Given the description of an element on the screen output the (x, y) to click on. 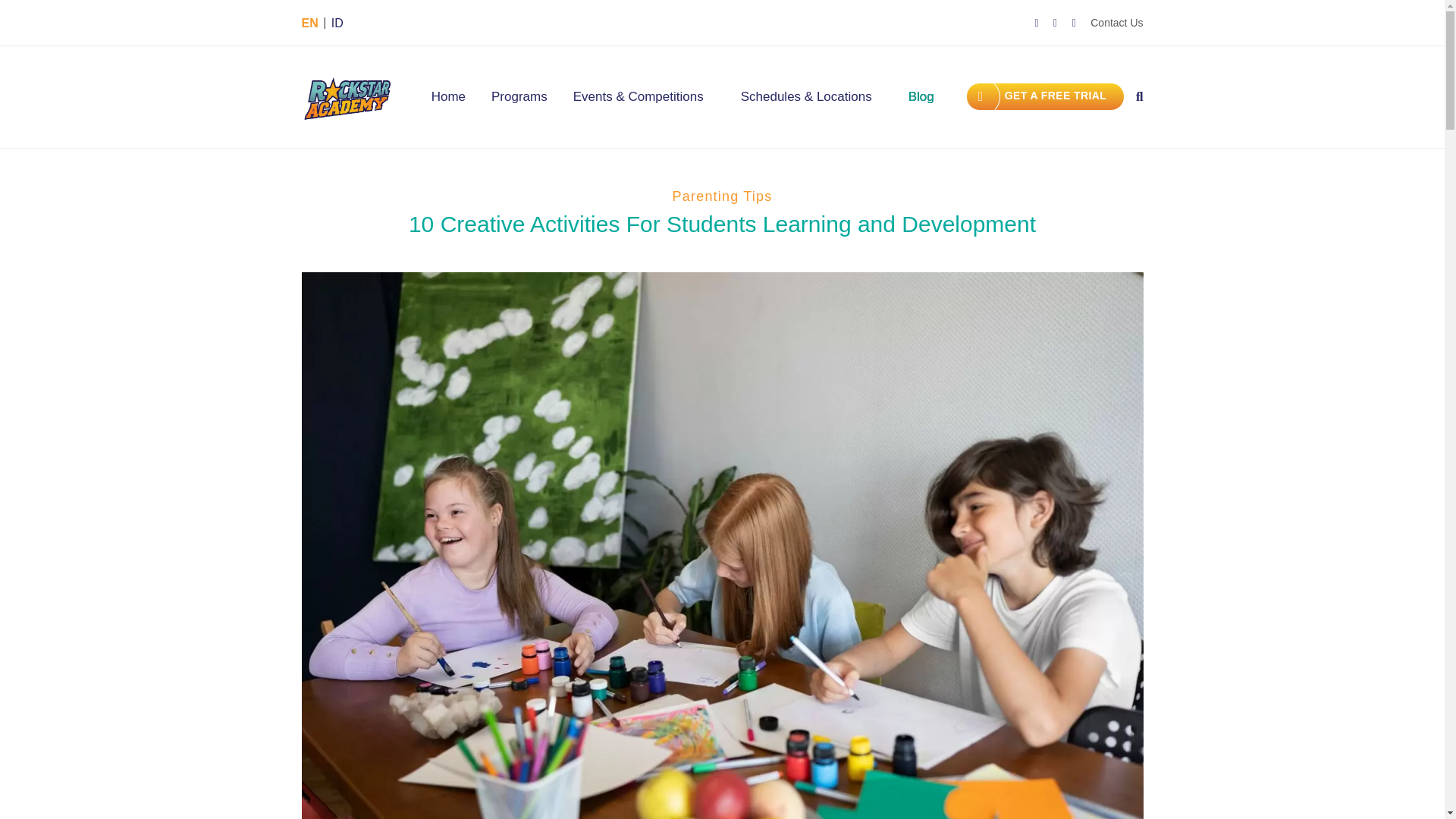
ID (337, 22)
EN (309, 22)
Programs (518, 97)
Contact Us (1116, 22)
Blog (921, 97)
GET A FREE TRIAL (1045, 96)
